Given the description of an element on the screen output the (x, y) to click on. 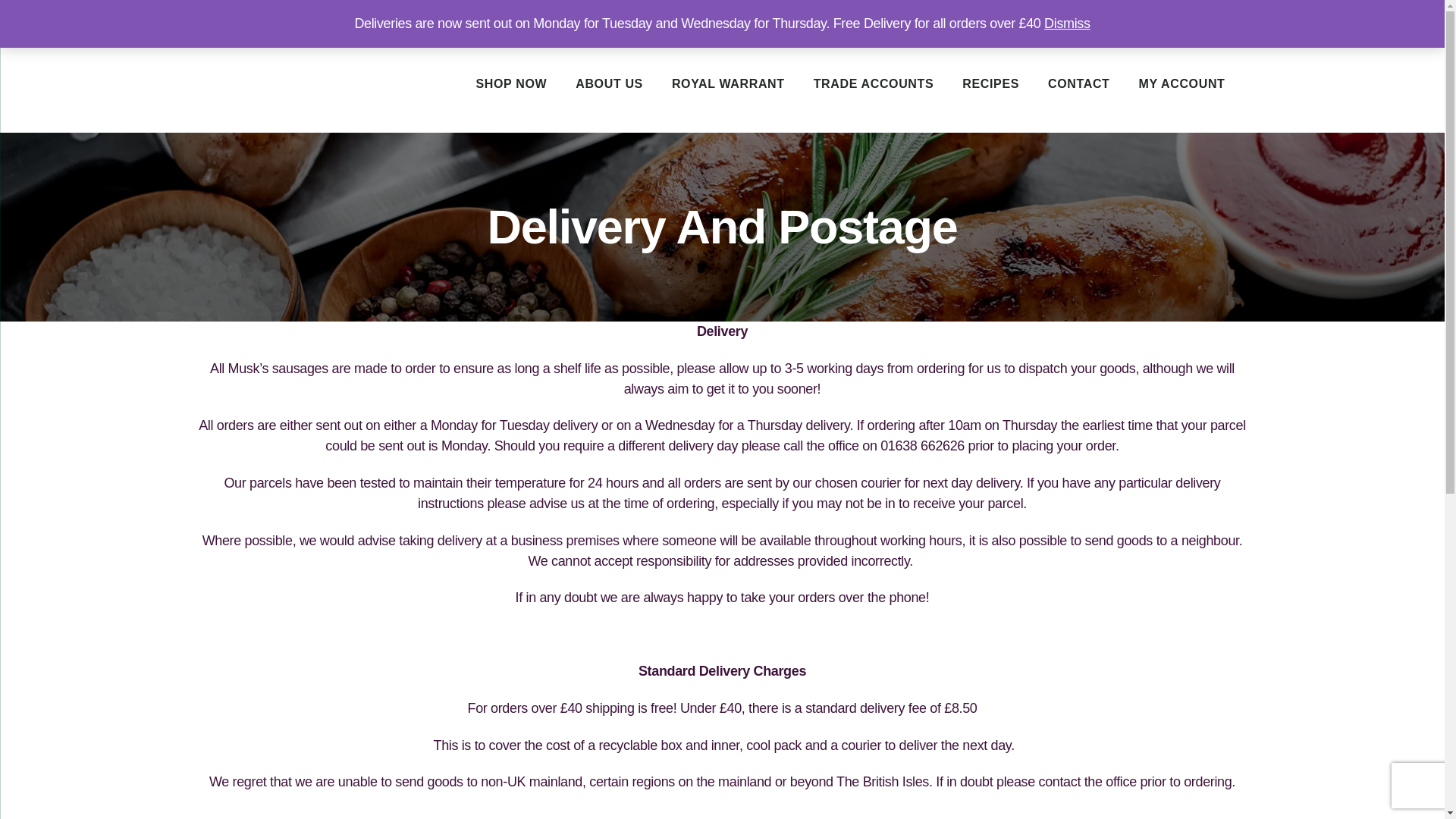
MY ACCOUNT (1181, 83)
ABOUT US (609, 83)
01638 662626 (1157, 18)
CONTACT (1078, 83)
ROYAL WARRANT (728, 83)
TRADE ACCOUNTS (873, 83)
SHOP NOW (510, 83)
RECIPES (990, 83)
